Given the description of an element on the screen output the (x, y) to click on. 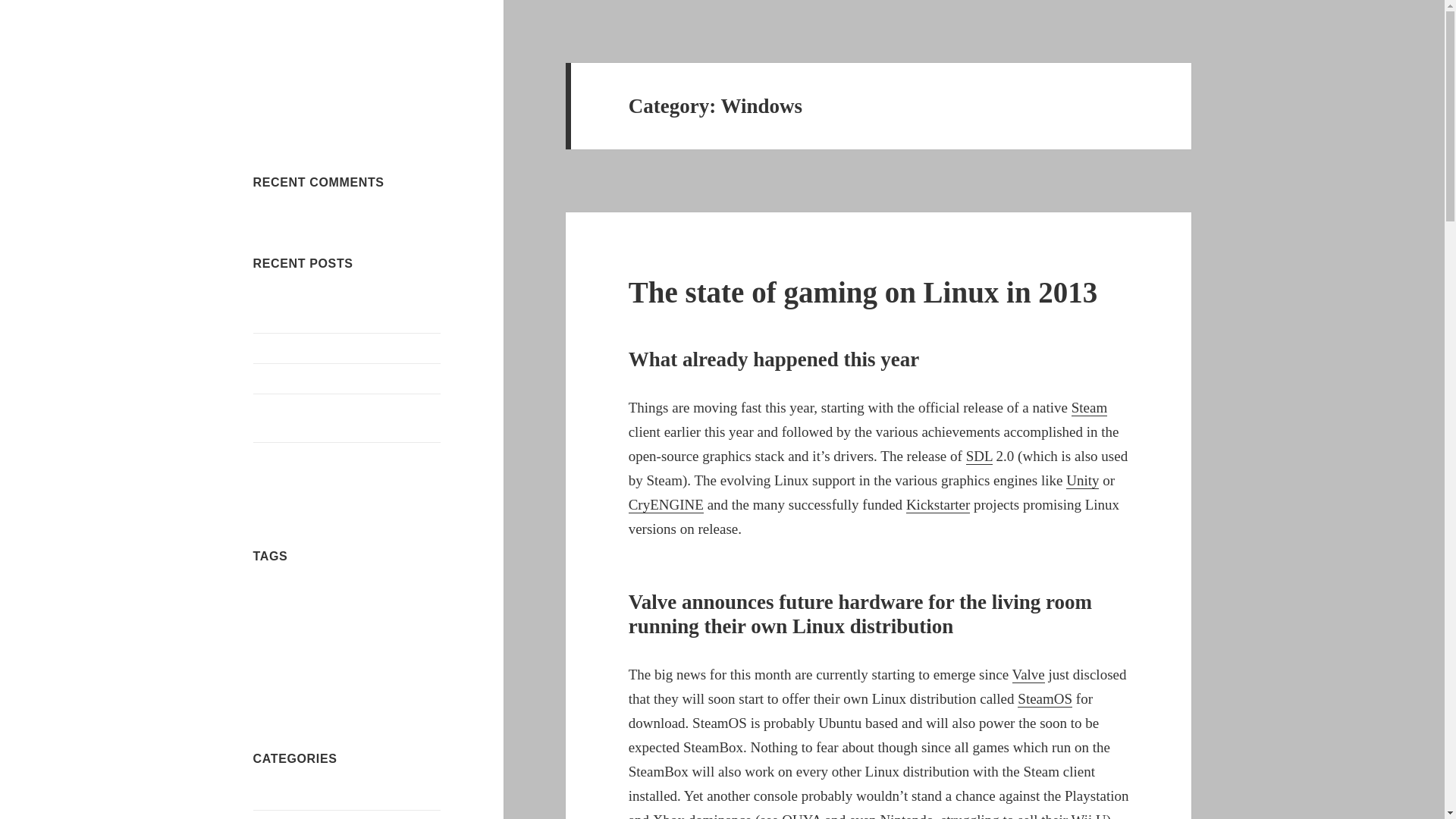
Steam (1089, 407)
xbmc (423, 674)
featured (390, 593)
The state of gaming on Linux in 2013 (862, 292)
world of warcraft (383, 674)
giganetz (293, 623)
exherbo (361, 593)
gaming (265, 623)
ftth (413, 593)
steam (352, 645)
